Given the description of an element on the screen output the (x, y) to click on. 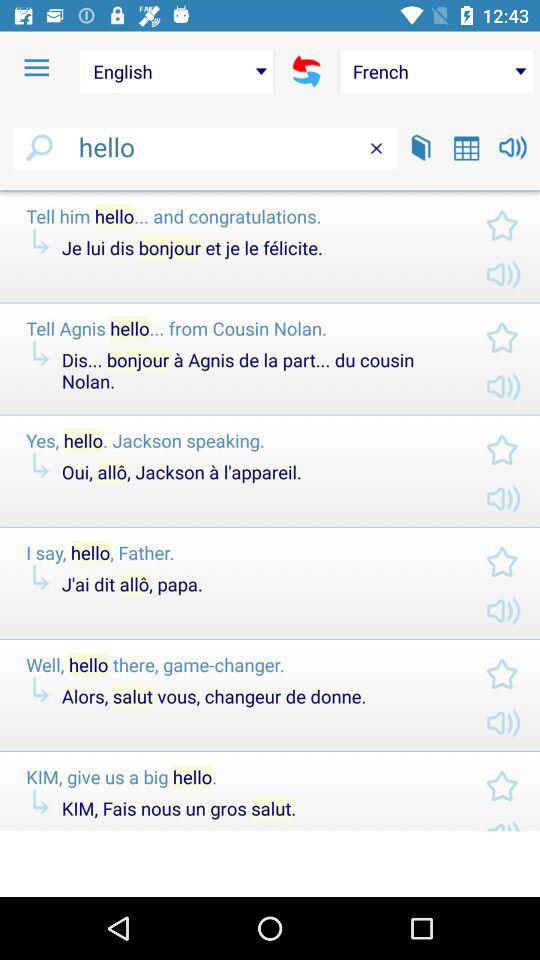
choose the english item (176, 71)
